Given the description of an element on the screen output the (x, y) to click on. 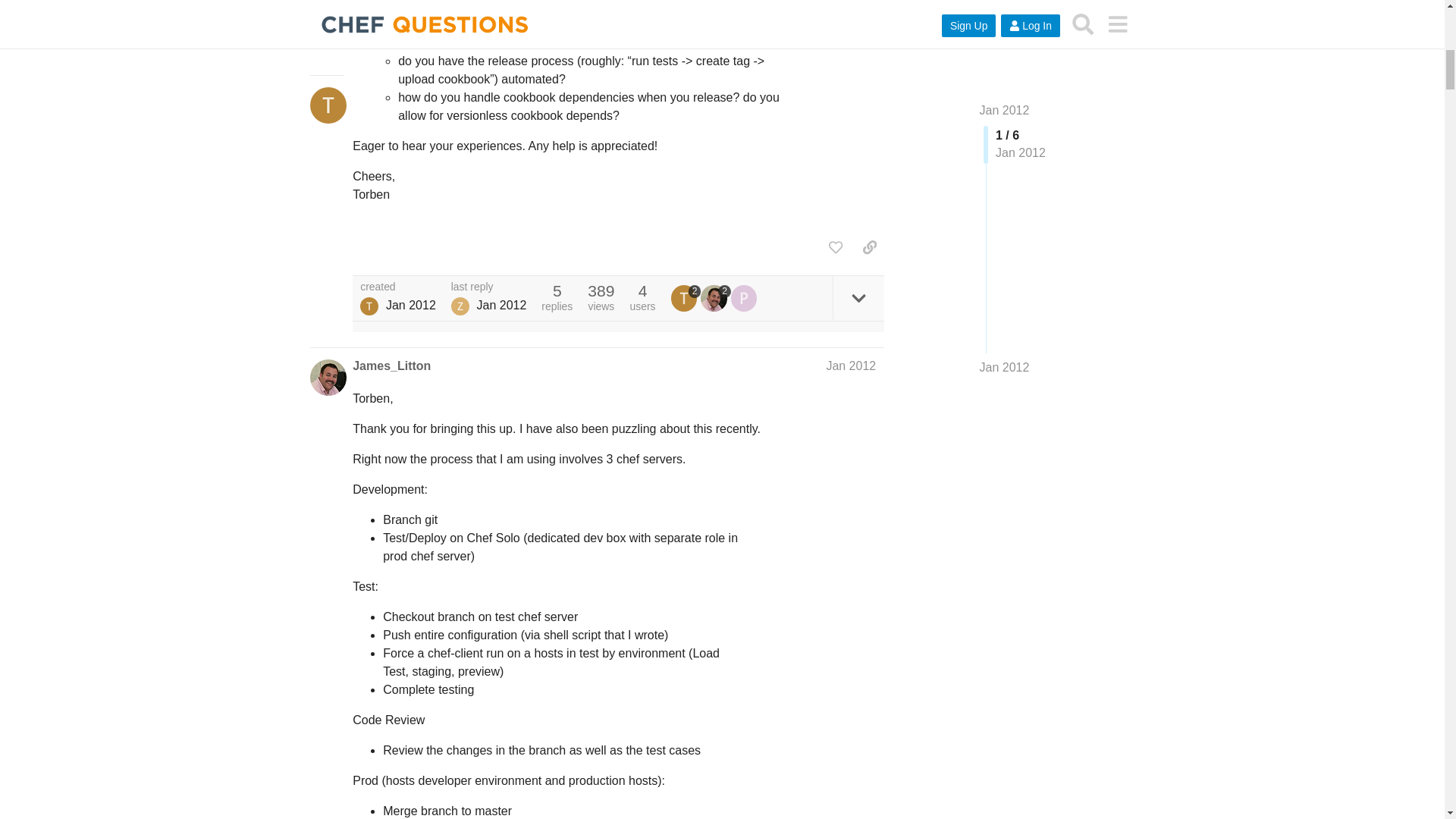
2 (715, 298)
copy a link to this post to clipboard (869, 247)
2 (686, 298)
Jan 5, 2012 3:58 am (410, 305)
last reply (489, 286)
like this post (835, 247)
Jan 2012 (850, 365)
Jan 6, 2012 7:26 am (500, 305)
Torben Knerr (368, 306)
expand topic details (857, 298)
Zuhaib Siddique (459, 306)
